Given the description of an element on the screen output the (x, y) to click on. 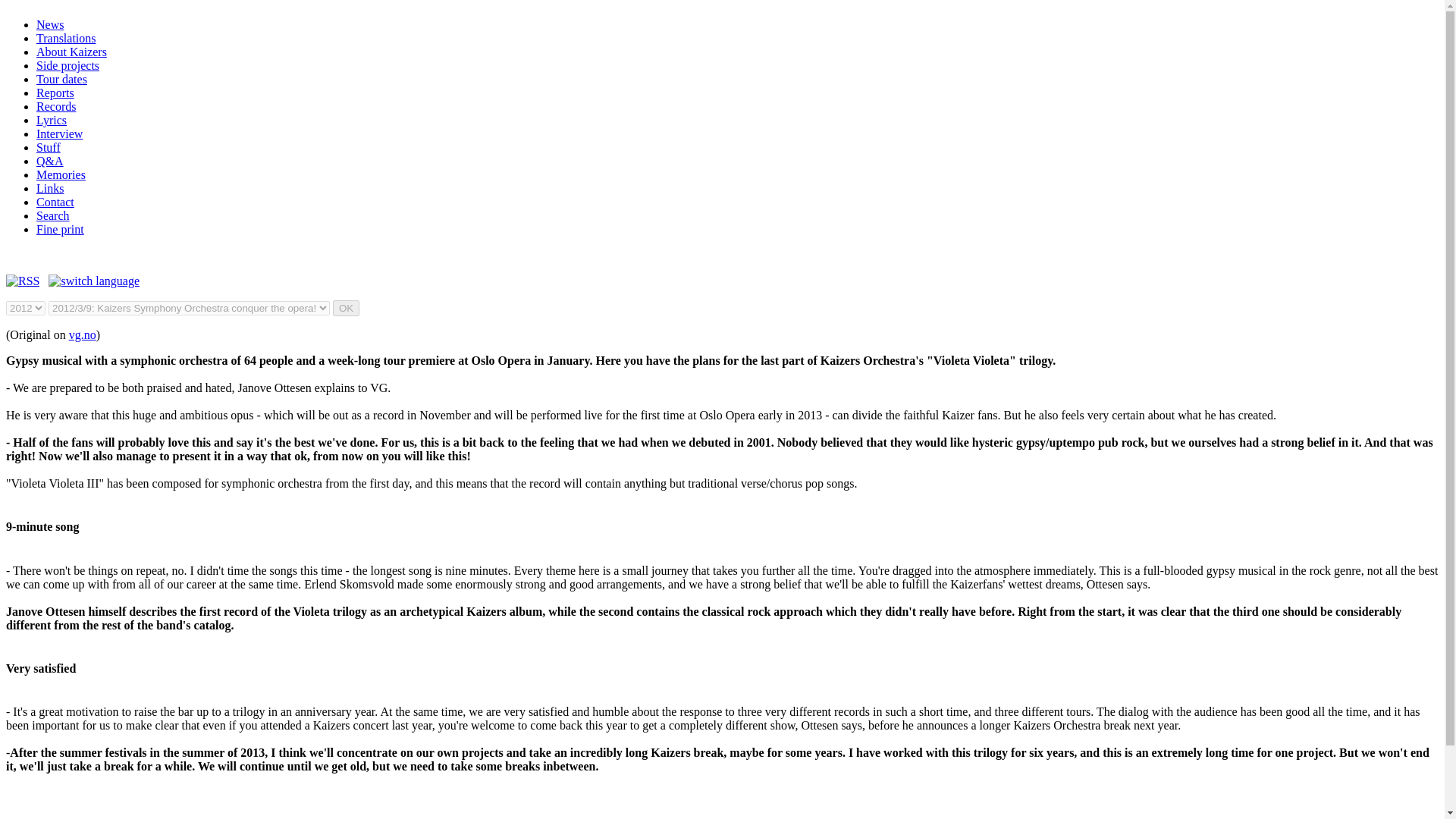
Lyrics (51, 119)
Reports (55, 92)
Contact (55, 201)
Tour dates (61, 78)
Side projects (67, 65)
Search (52, 215)
Links (50, 187)
Translations (66, 38)
Stuff (48, 146)
Interview (59, 133)
OK (346, 308)
News (50, 24)
Fine print (60, 228)
Memories (60, 174)
vg.no (82, 334)
